Given the description of an element on the screen output the (x, y) to click on. 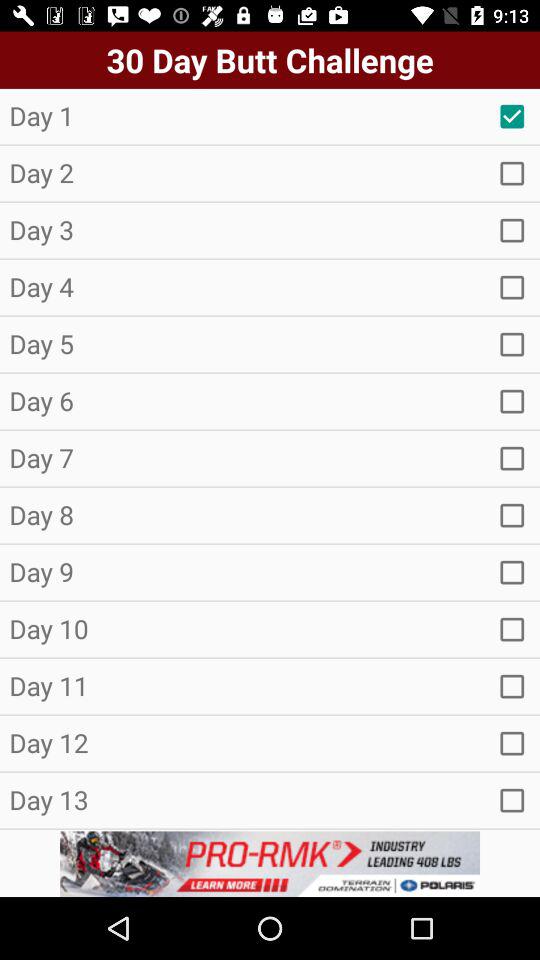
select button (512, 287)
